Given the description of an element on the screen output the (x, y) to click on. 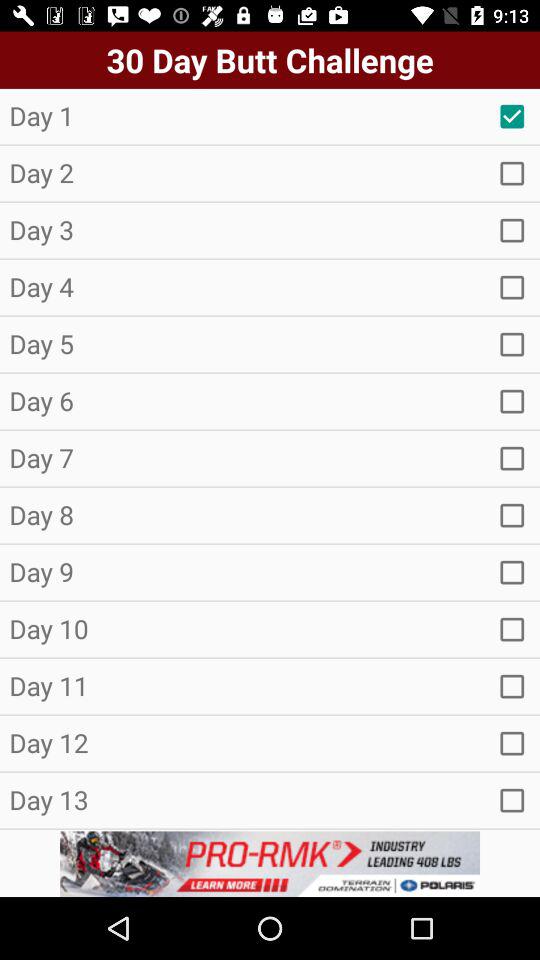
select button (512, 287)
